Given the description of an element on the screen output the (x, y) to click on. 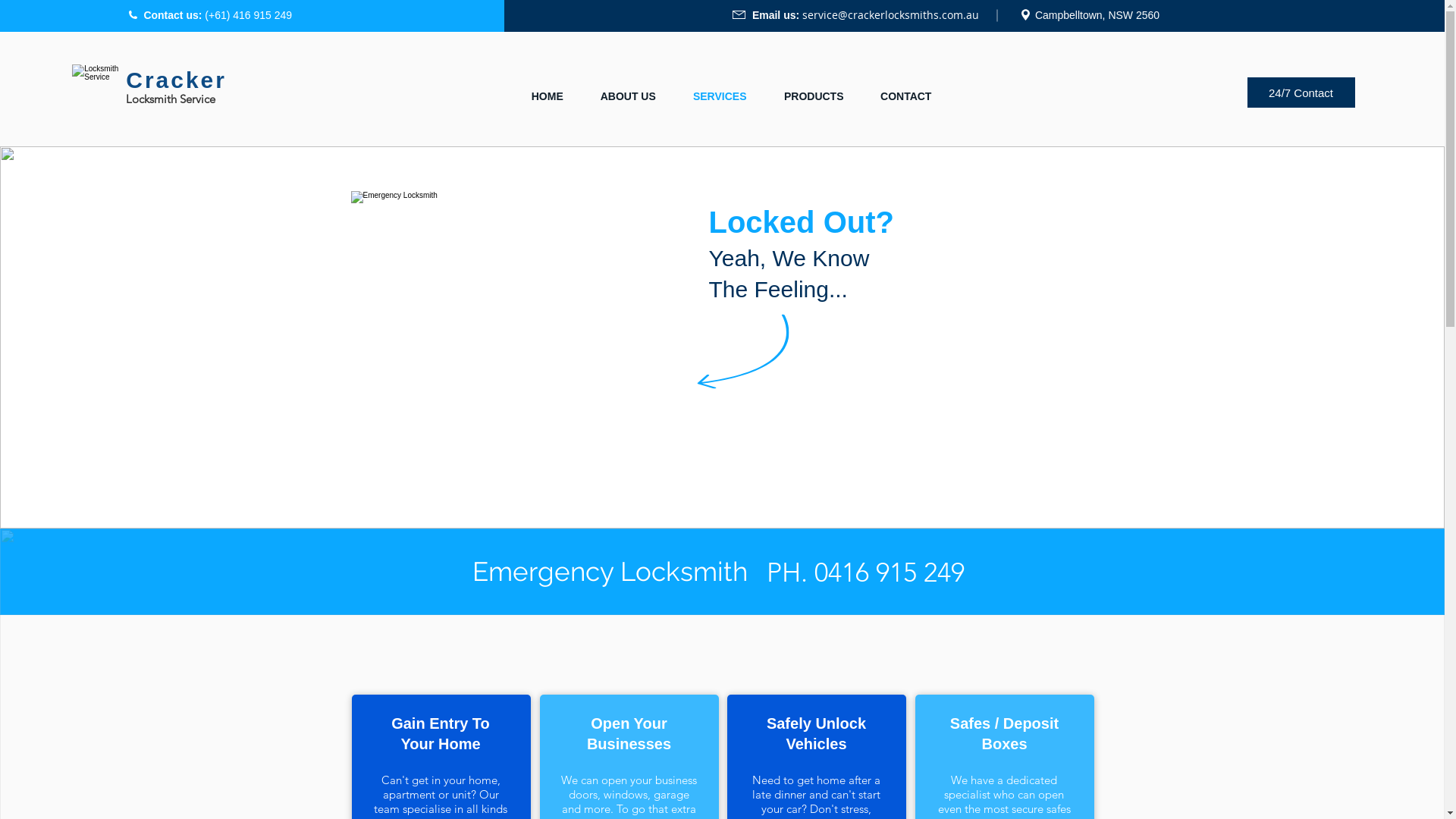
CONTACT Element type: text (905, 95)
Email us:  Element type: text (777, 14)
SERVICES Element type: text (719, 95)
PRODUCTS Element type: text (813, 95)
ABOUT US Element type: text (627, 95)
HOME Element type: text (546, 95)
0416 915 249 Element type: text (889, 571)
24/7 Contact Element type: text (1300, 92)
service@crackerlocksmiths.com.au Element type: text (890, 14)
